Given the description of an element on the screen output the (x, y) to click on. 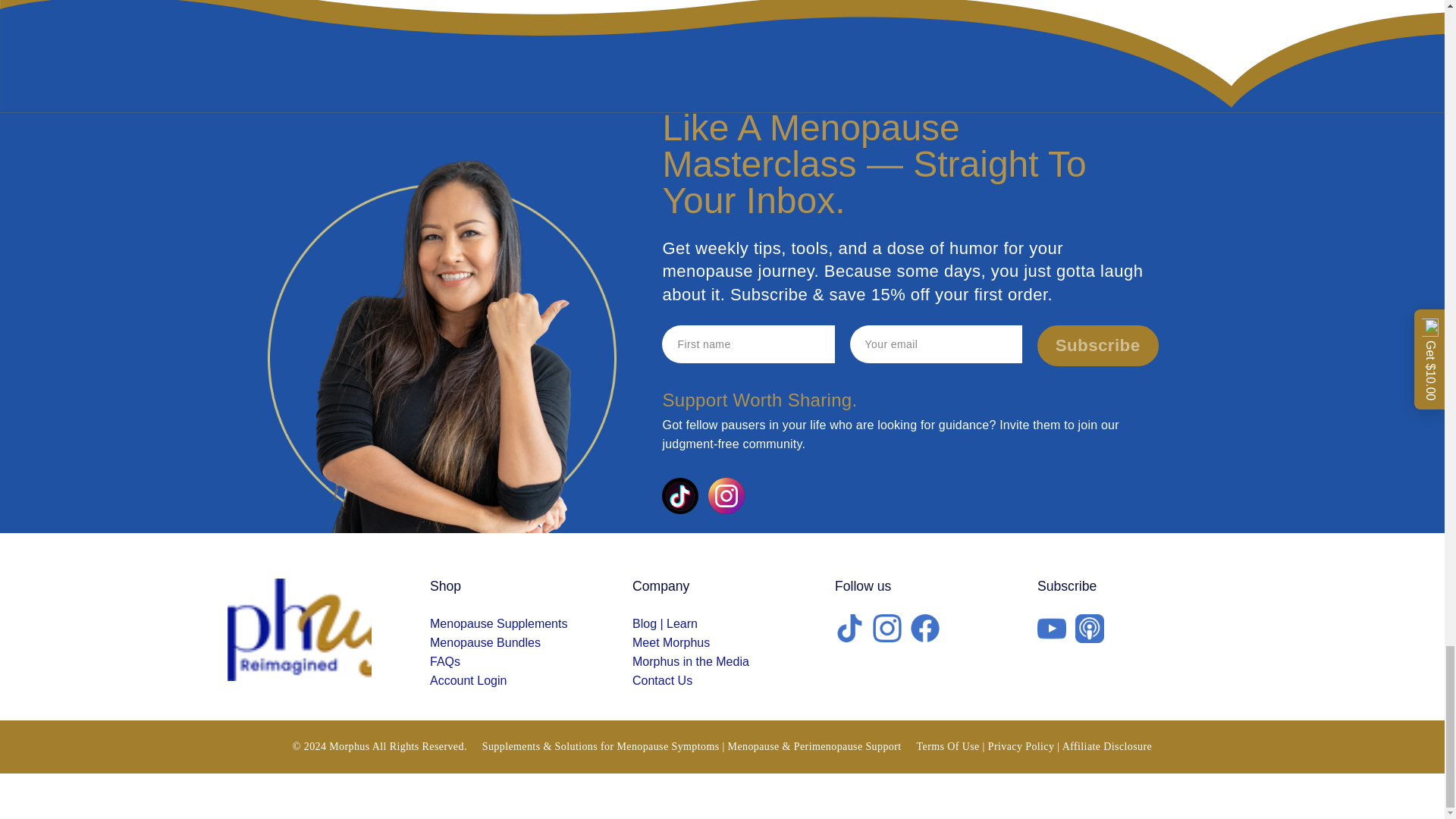
Privacy Policy (1021, 746)
Terms Of Use (948, 746)
Affiliate Disclosure (1107, 746)
